Given the description of an element on the screen output the (x, y) to click on. 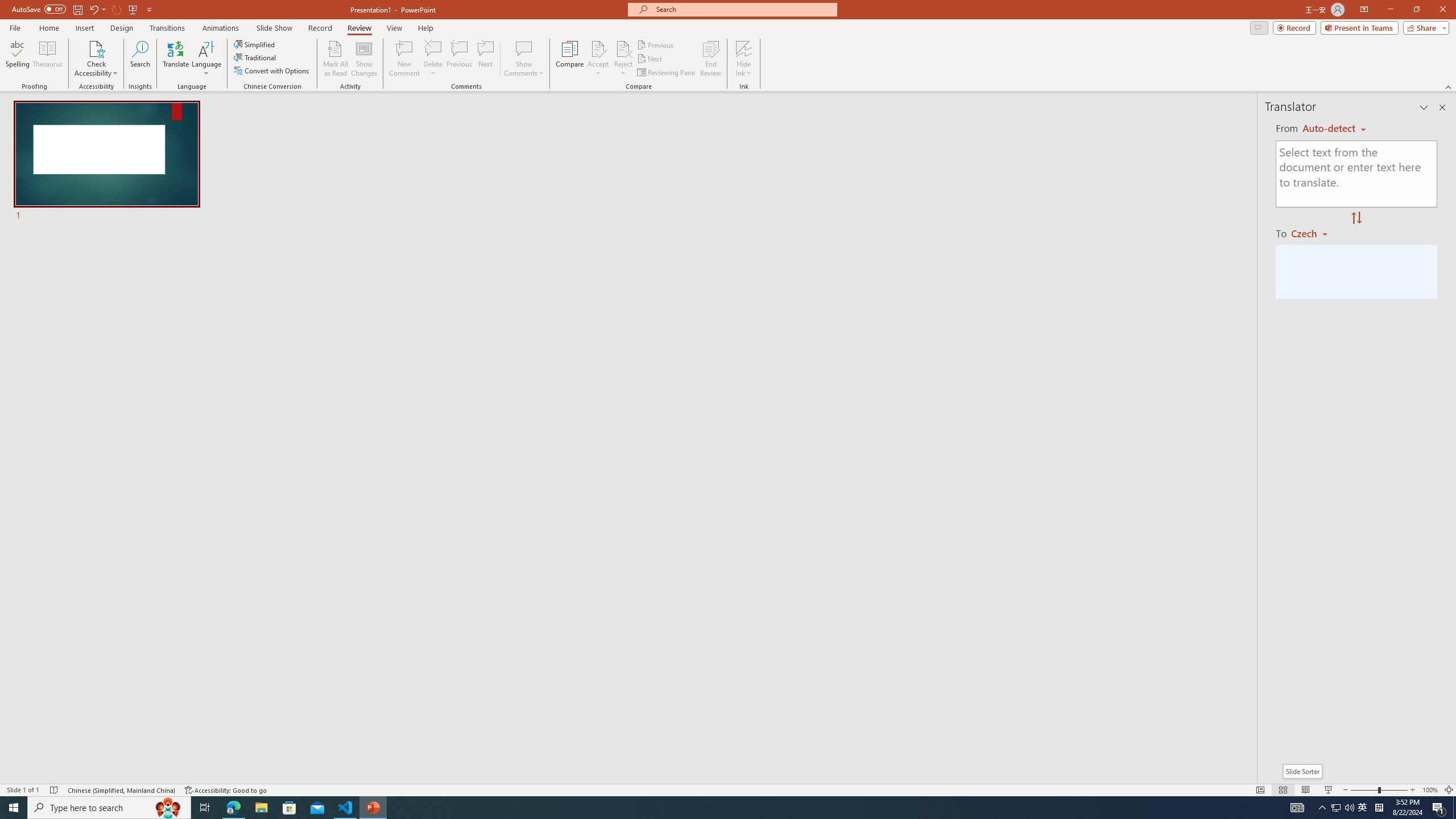
Check Accessibility (95, 58)
Zoom 100% (1430, 790)
Swap "from" and "to" languages. (1355, 218)
Delete (432, 48)
Class: MsoCommandBar (728, 789)
Reviewing Pane (666, 72)
Hide Ink (743, 58)
Task Pane Options (1423, 107)
Accept Change (598, 48)
